Given the description of an element on the screen output the (x, y) to click on. 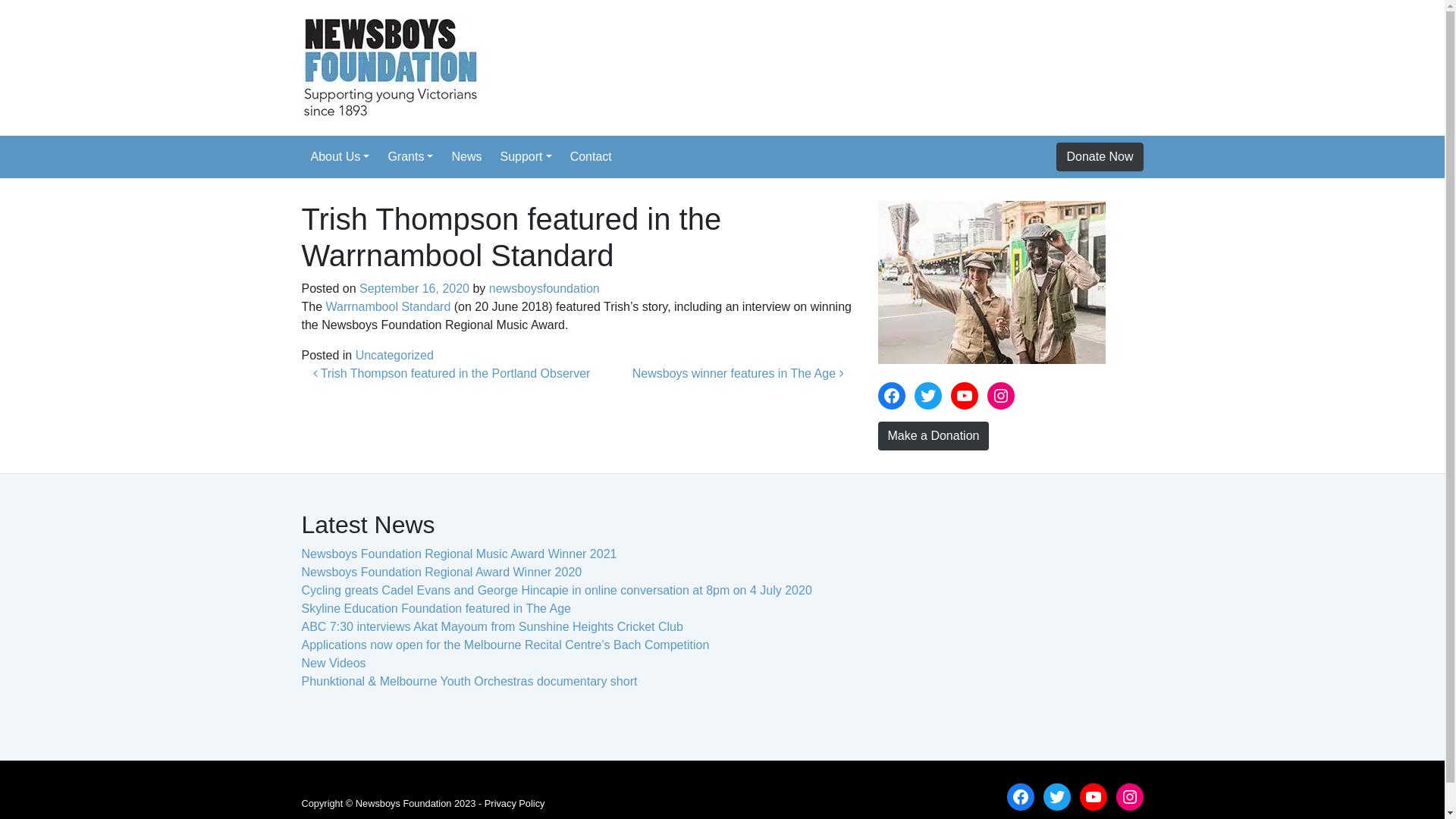
September 16, 2020 Element type: text (414, 288)
Instagram Element type: text (1000, 395)
News Element type: text (466, 156)
About Us Element type: text (340, 156)
YouTube Element type: text (964, 395)
Donate Now Element type: text (1099, 156)
Uncategorized Element type: text (394, 354)
Newsboys Foundation Regional Music Award Winner 2021 Element type: text (459, 553)
Support Element type: text (526, 156)
Contact Element type: text (591, 156)
Newsboys Foundation Regional Award Winner 2020 Element type: text (441, 571)
YouTube Element type: text (1093, 796)
Instagram Element type: text (1129, 796)
Warrnambool Standard Element type: text (388, 306)
newsboysfoundation Element type: text (544, 288)
Privacy Policy Element type: text (514, 803)
Facebook Element type: text (1020, 796)
Skyline Education Foundation featured in The Age Element type: text (436, 608)
Newsboys winner features in The Age  Element type: text (738, 373)
Grants Element type: text (410, 156)
Phunktional & Melbourne Youth Orchestras documentary short Element type: text (469, 680)
Facebook Element type: text (891, 395)
 Trish Thompson featured in the Portland Observer Element type: text (450, 373)
New Videos Element type: text (333, 662)
Twitter Element type: text (927, 395)
Twitter Element type: text (1056, 796)
Make a Donation Element type: text (933, 435)
